Given the description of an element on the screen output the (x, y) to click on. 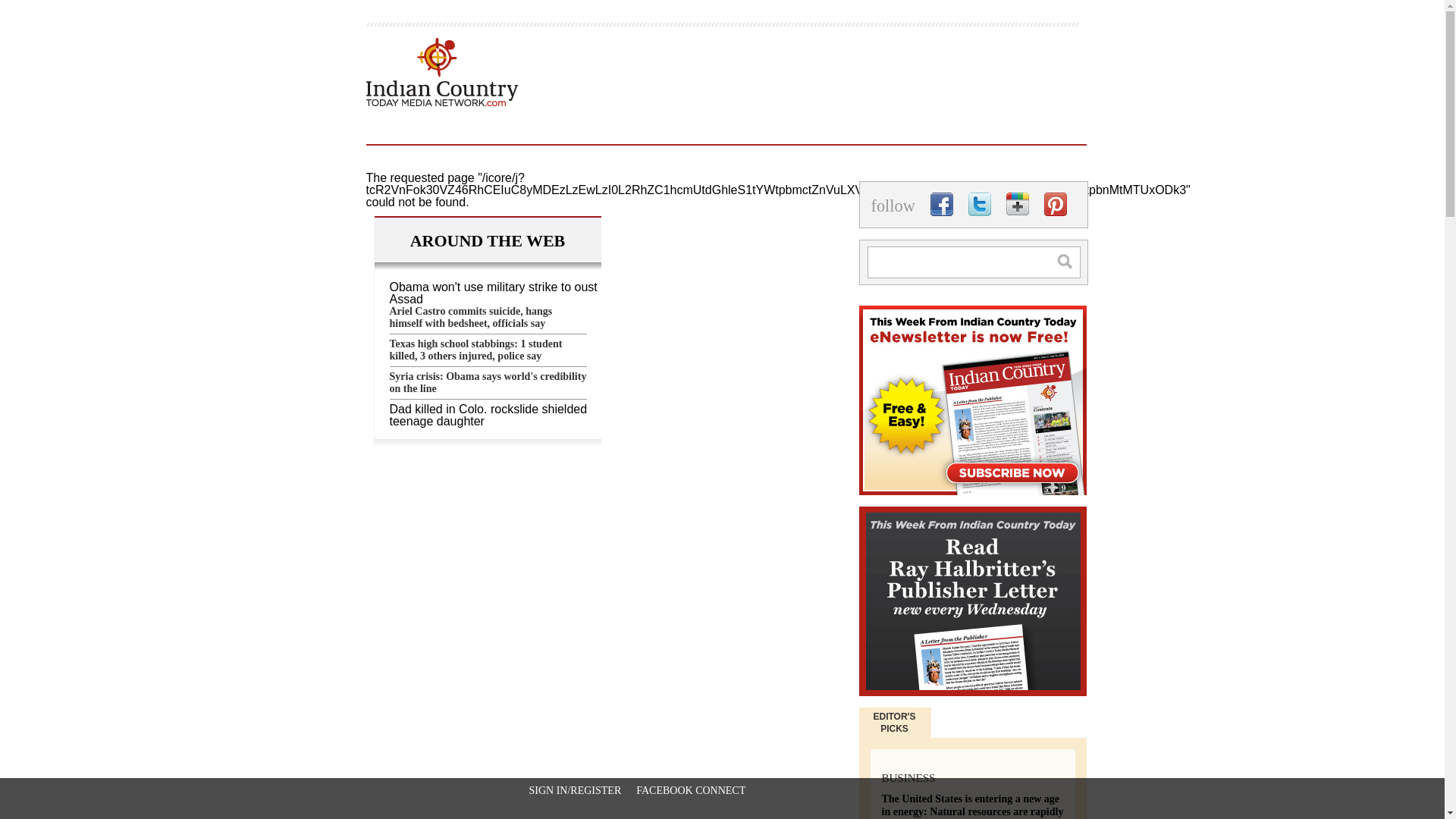
Search (1072, 261)
Search (1072, 261)
Syria crisis: Obama says world's credibility on the line (488, 385)
Enter the terms you wish to search for. (973, 262)
EDITOR'S PICKS (895, 722)
Login Using Facebok (690, 790)
